Given the description of an element on the screen output the (x, y) to click on. 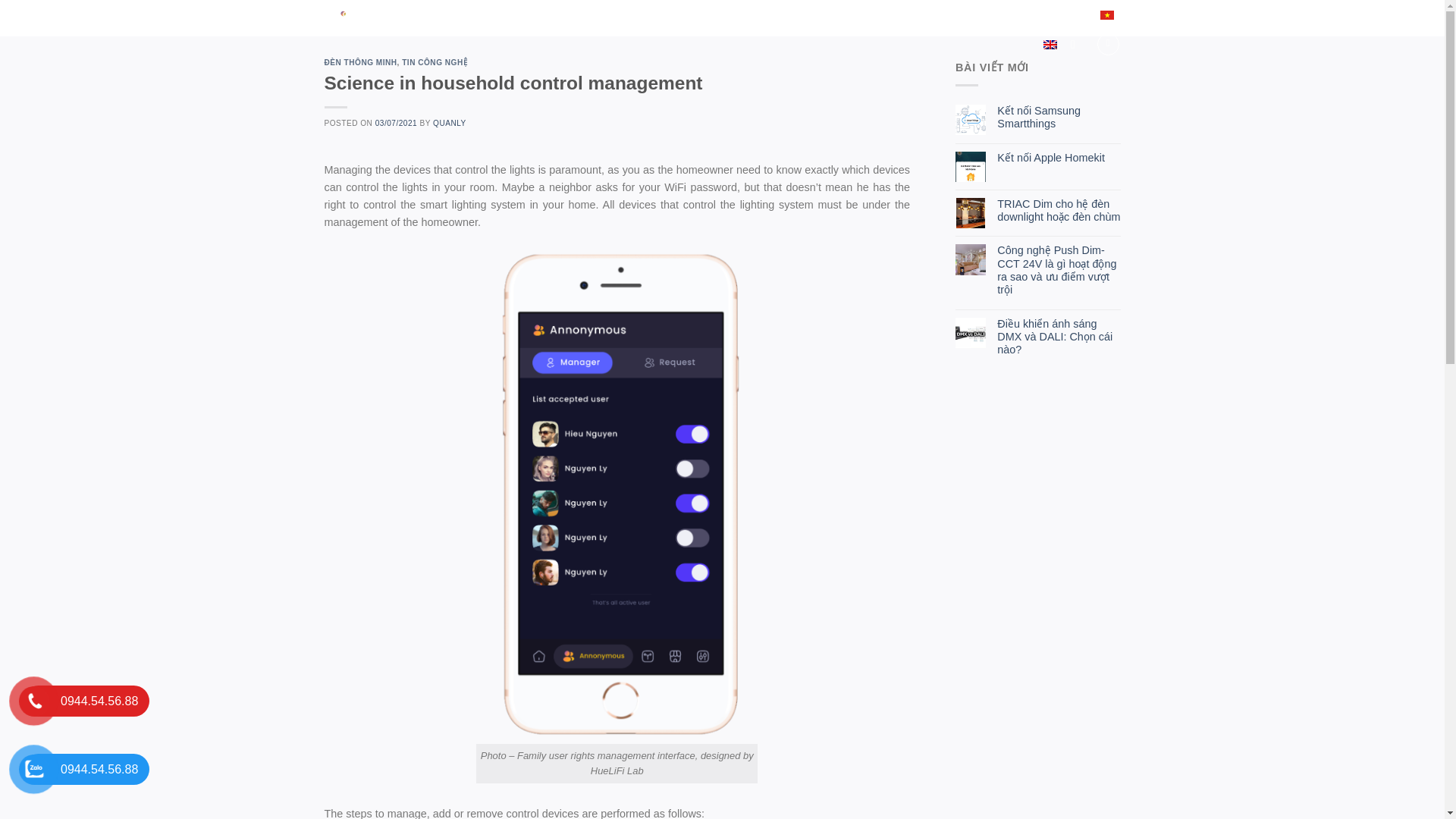
PRODUCTS- SOLUTIONS (529, 14)
HOME (436, 14)
Cart (1108, 44)
TECHNOLOGY (646, 14)
HuePress (354, 17)
